Given the description of an element on the screen output the (x, y) to click on. 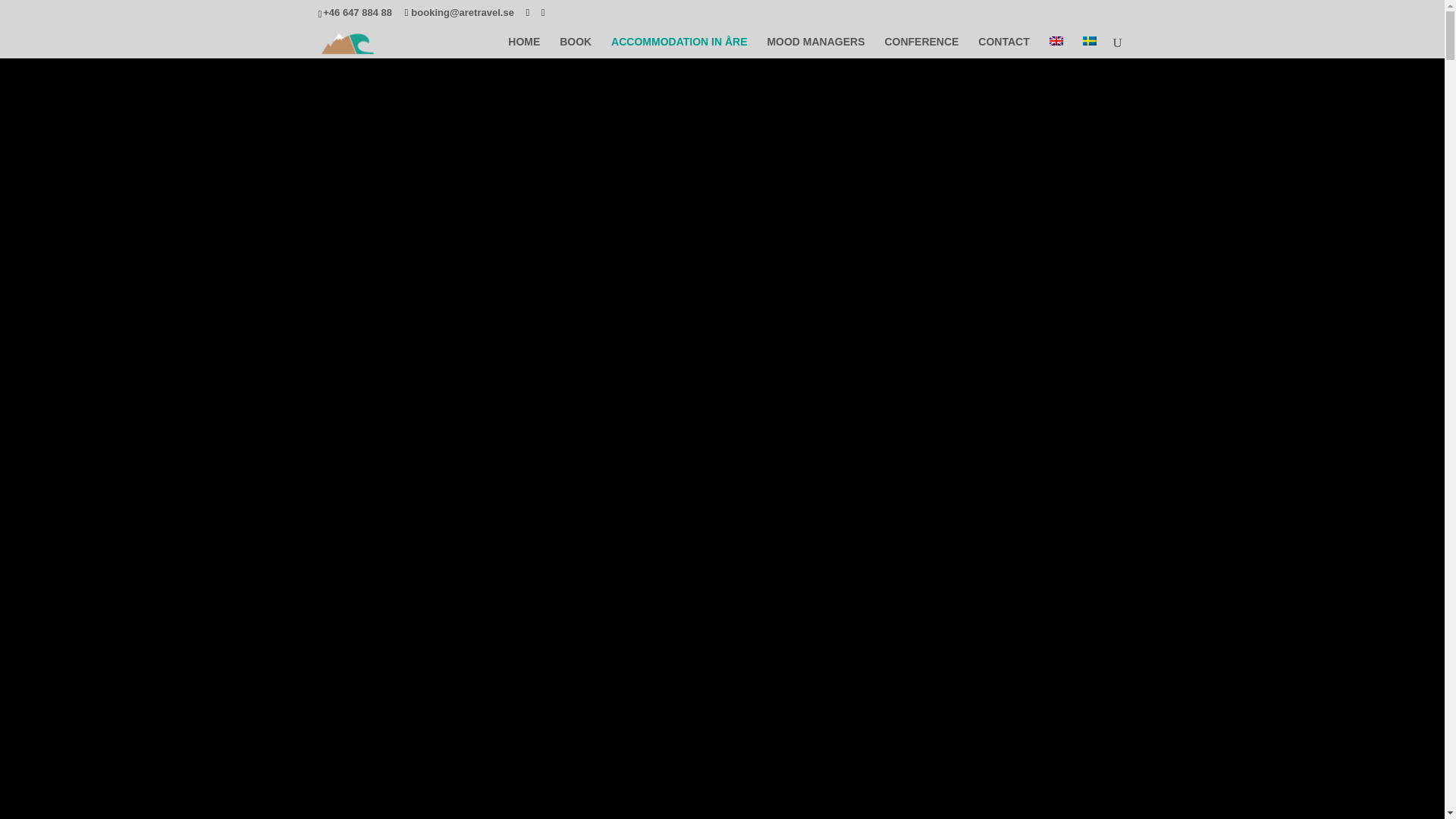
CONFERENCE (920, 47)
CONTACT (1003, 47)
BOOK (575, 47)
MOOD MANAGERS (815, 47)
HOME (524, 47)
